Given the description of an element on the screen output the (x, y) to click on. 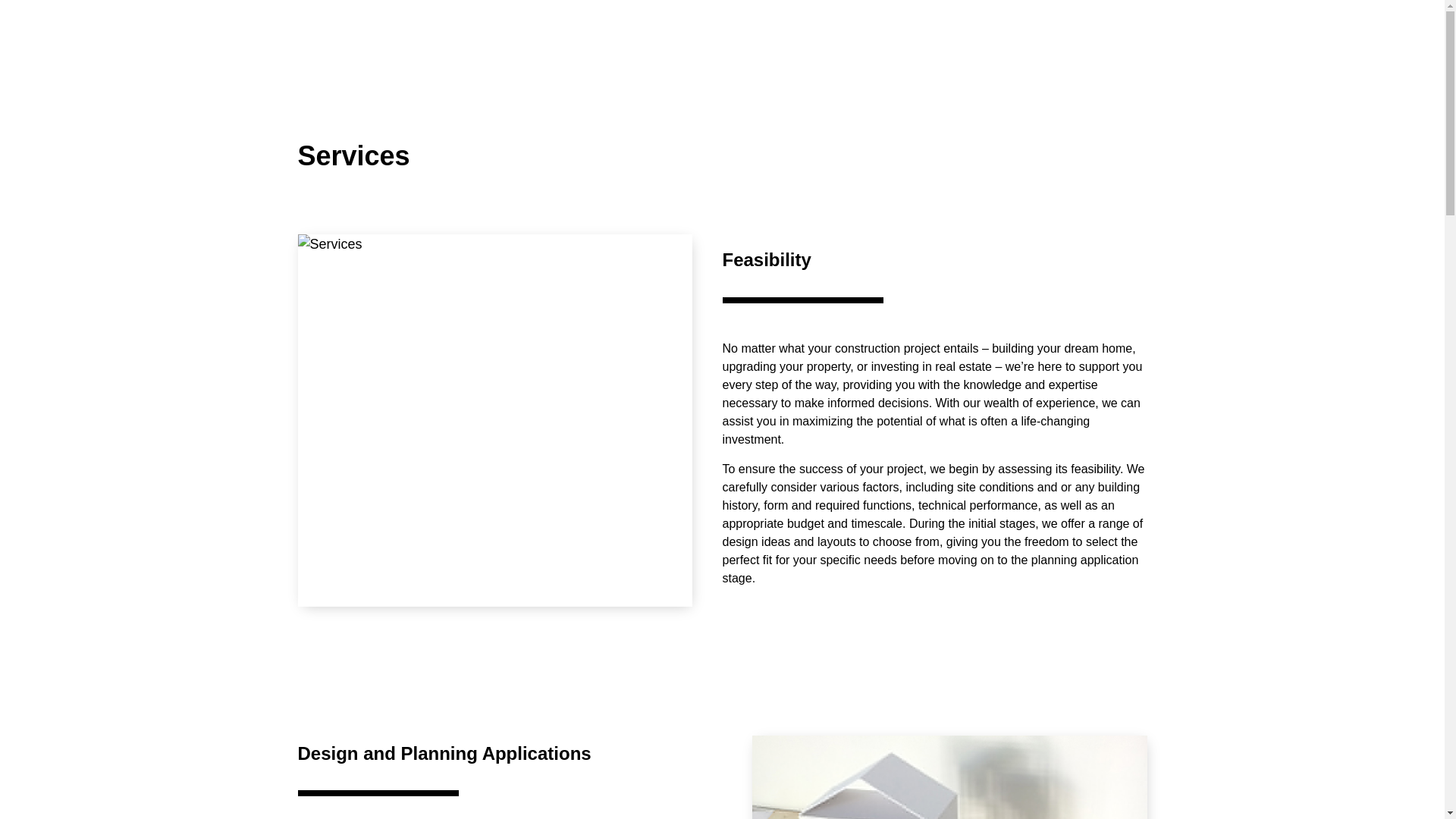
Page 1 (509, 753)
Page 1 (934, 463)
Page 1 (934, 259)
